Given the description of an element on the screen output the (x, y) to click on. 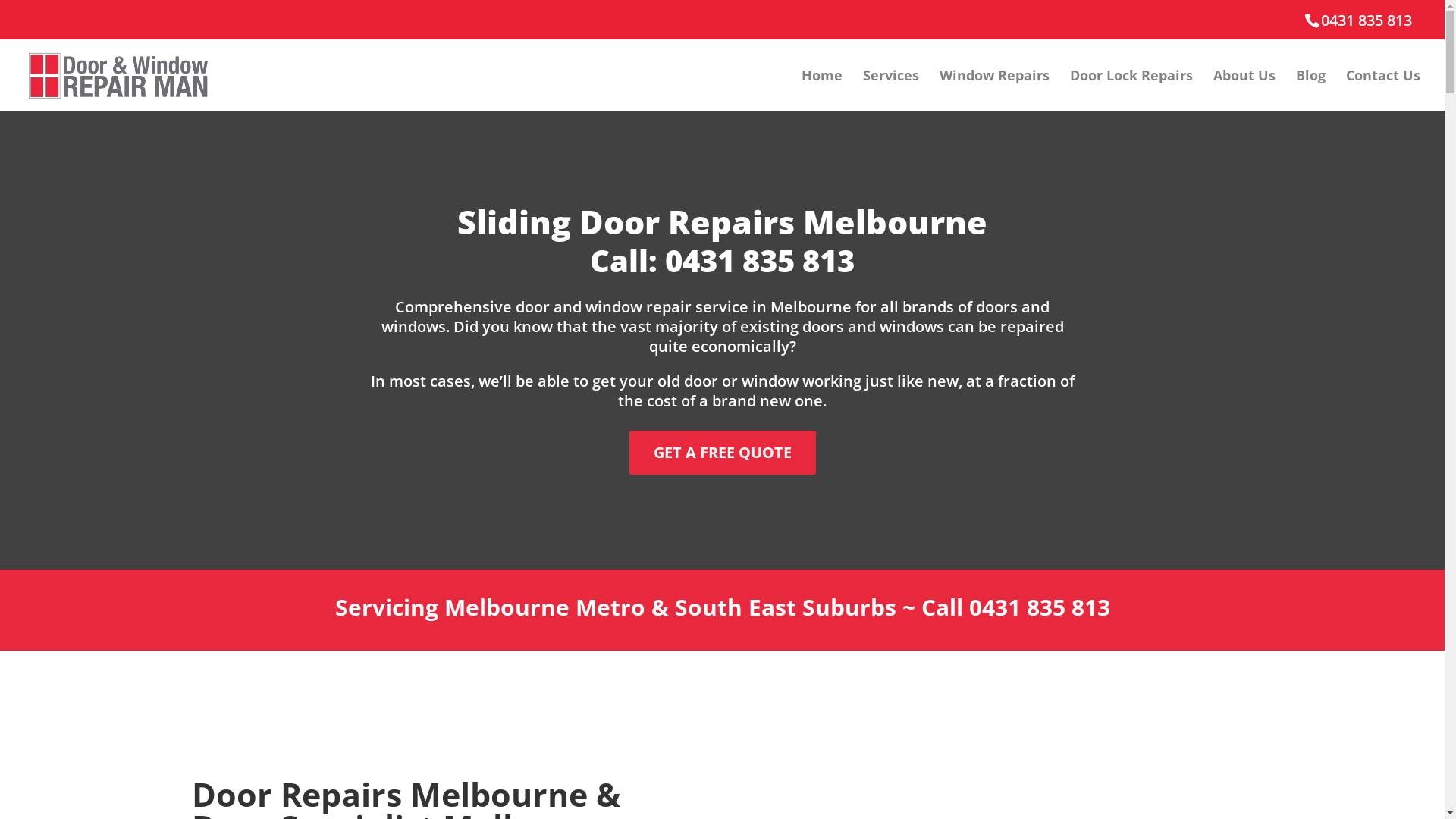
Contact Us Element type: text (1383, 89)
Blog Element type: text (1310, 89)
About Us Element type: text (1244, 89)
Services Element type: text (890, 89)
Window Repairs Element type: text (994, 89)
Door Lock Repairs Element type: text (1131, 89)
Home Element type: text (821, 89)
GET A FREE QUOTE Element type: text (722, 452)
